Given the description of an element on the screen output the (x, y) to click on. 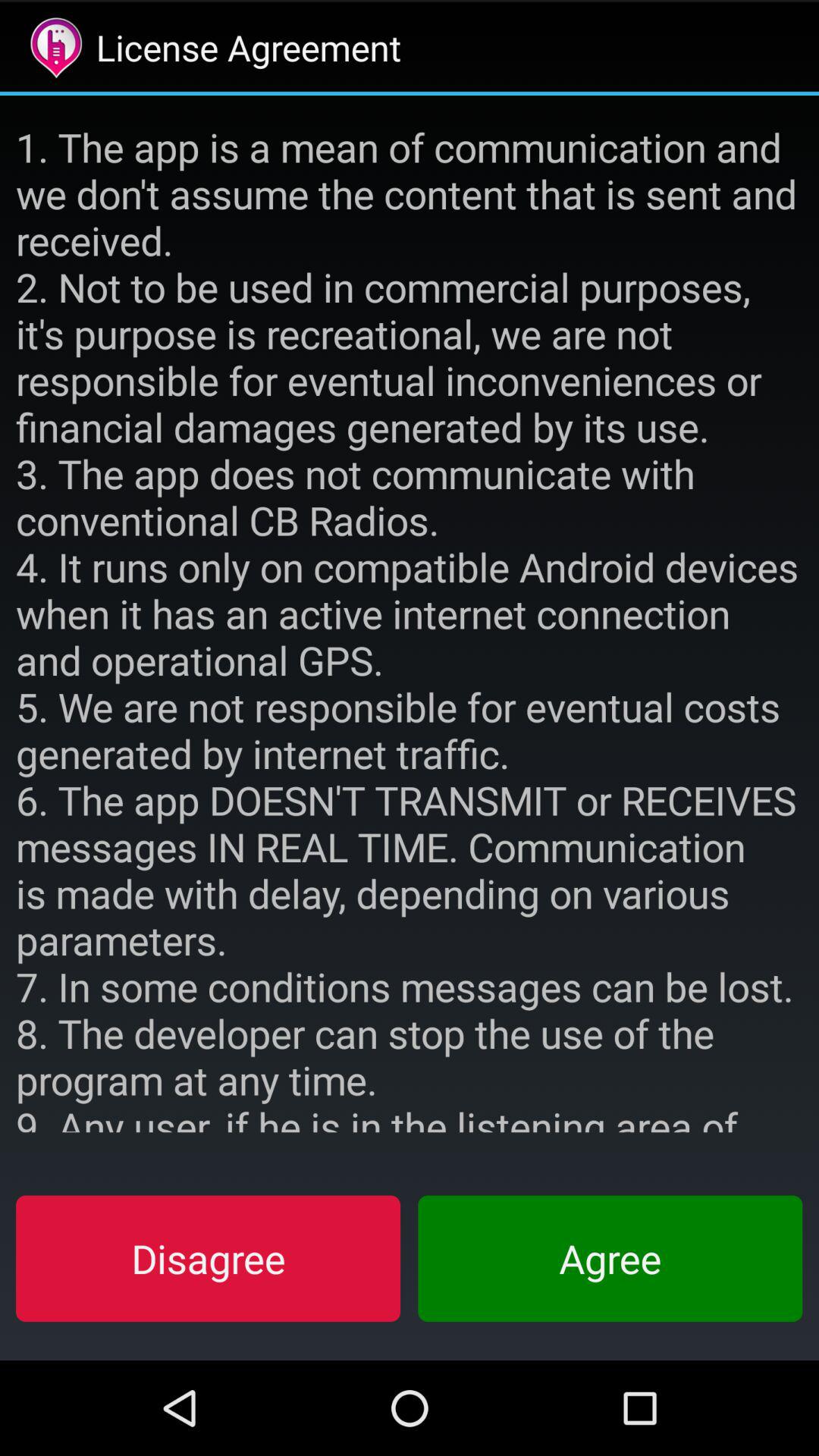
jump until the disagree item (207, 1258)
